Given the description of an element on the screen output the (x, y) to click on. 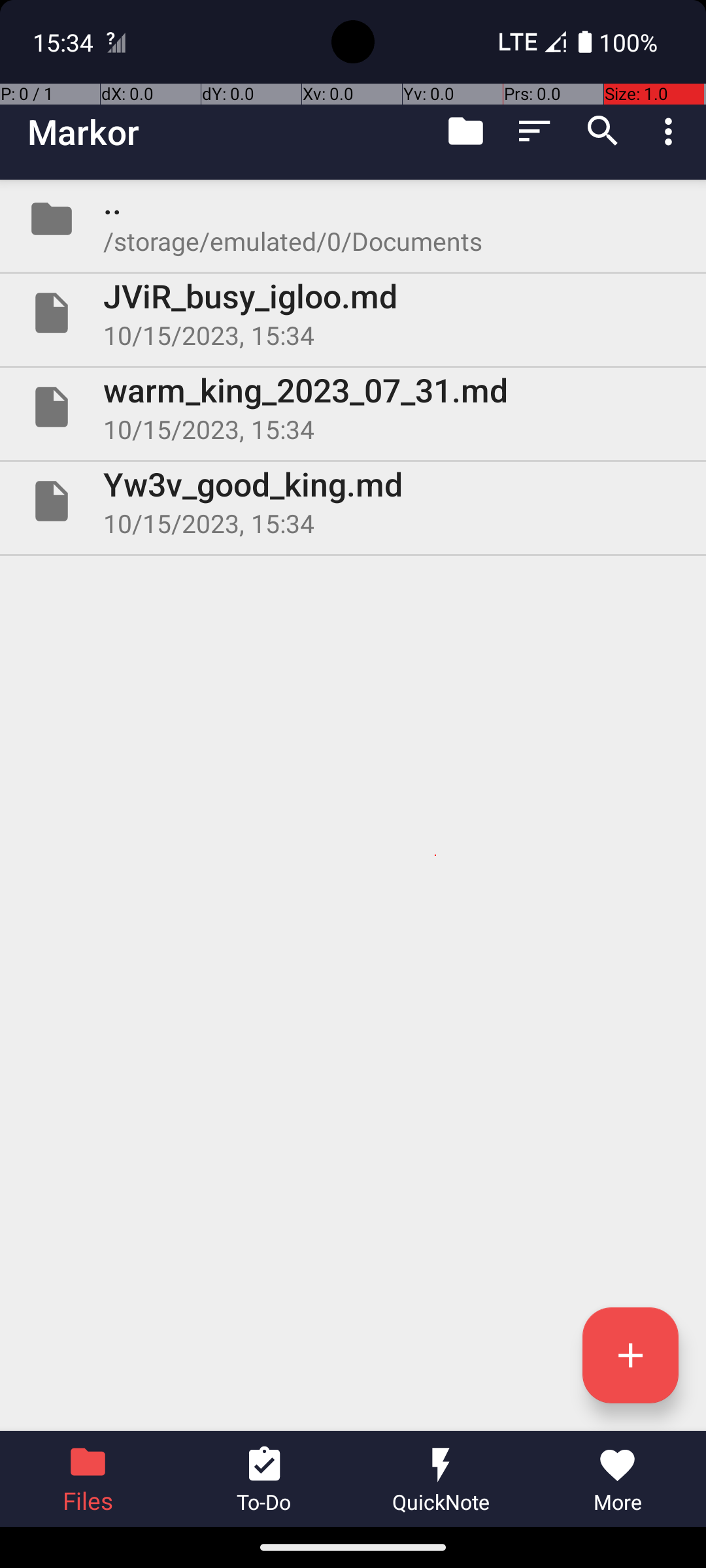
File JViR_busy_igloo.md  Element type: android.widget.LinearLayout (353, 312)
File warm_king_2023_07_31.md  Element type: android.widget.LinearLayout (353, 406)
File Yw3v_good_king.md  Element type: android.widget.LinearLayout (353, 500)
